Given the description of an element on the screen output the (x, y) to click on. 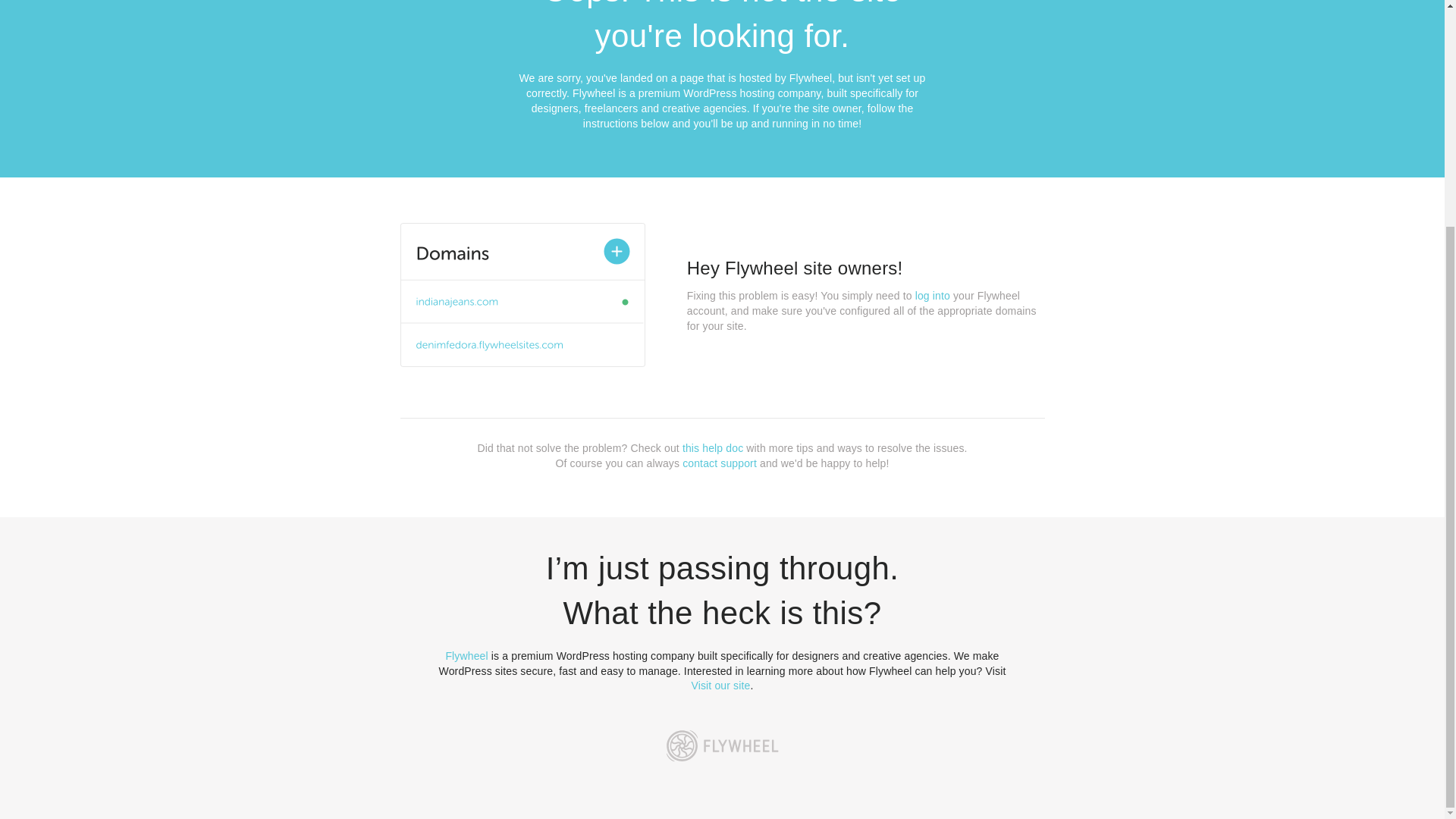
Visit our site (721, 685)
this help doc (712, 448)
contact support (719, 463)
Flywheel (466, 655)
log into (932, 295)
